Given the description of an element on the screen output the (x, y) to click on. 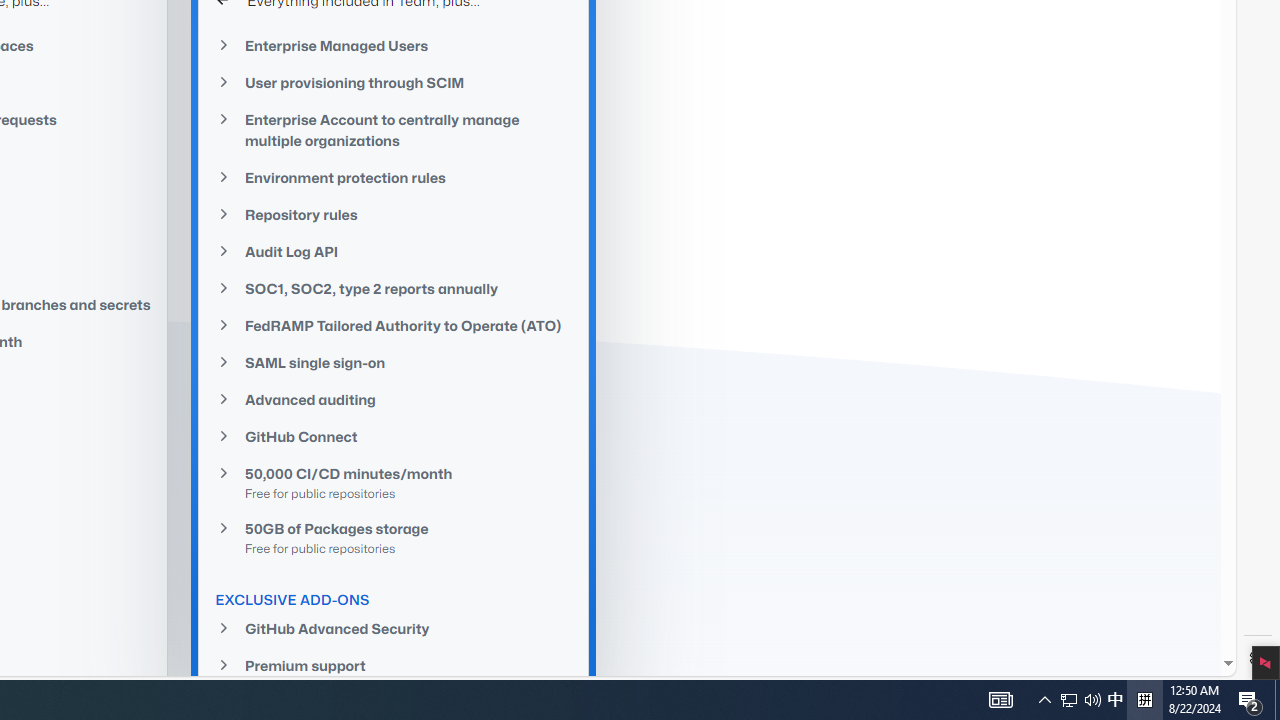
SOC1, SOC2, type 2 reports annually (394, 289)
Audit Log API (394, 250)
Audit Log API (394, 251)
Enterprise Managed Users (394, 44)
GitHub Advanced Security (394, 628)
Repository rules (394, 214)
GitHub Connect (394, 435)
50GB of Packages storageFree for public repositories (394, 537)
FedRAMP Tailored Authority to Operate (ATO) (394, 325)
GitHub Connect (394, 436)
FedRAMP Tailored Authority to Operate (ATO) (394, 325)
Environment protection rules (394, 177)
User provisioning through SCIM (394, 82)
